Given the description of an element on the screen output the (x, y) to click on. 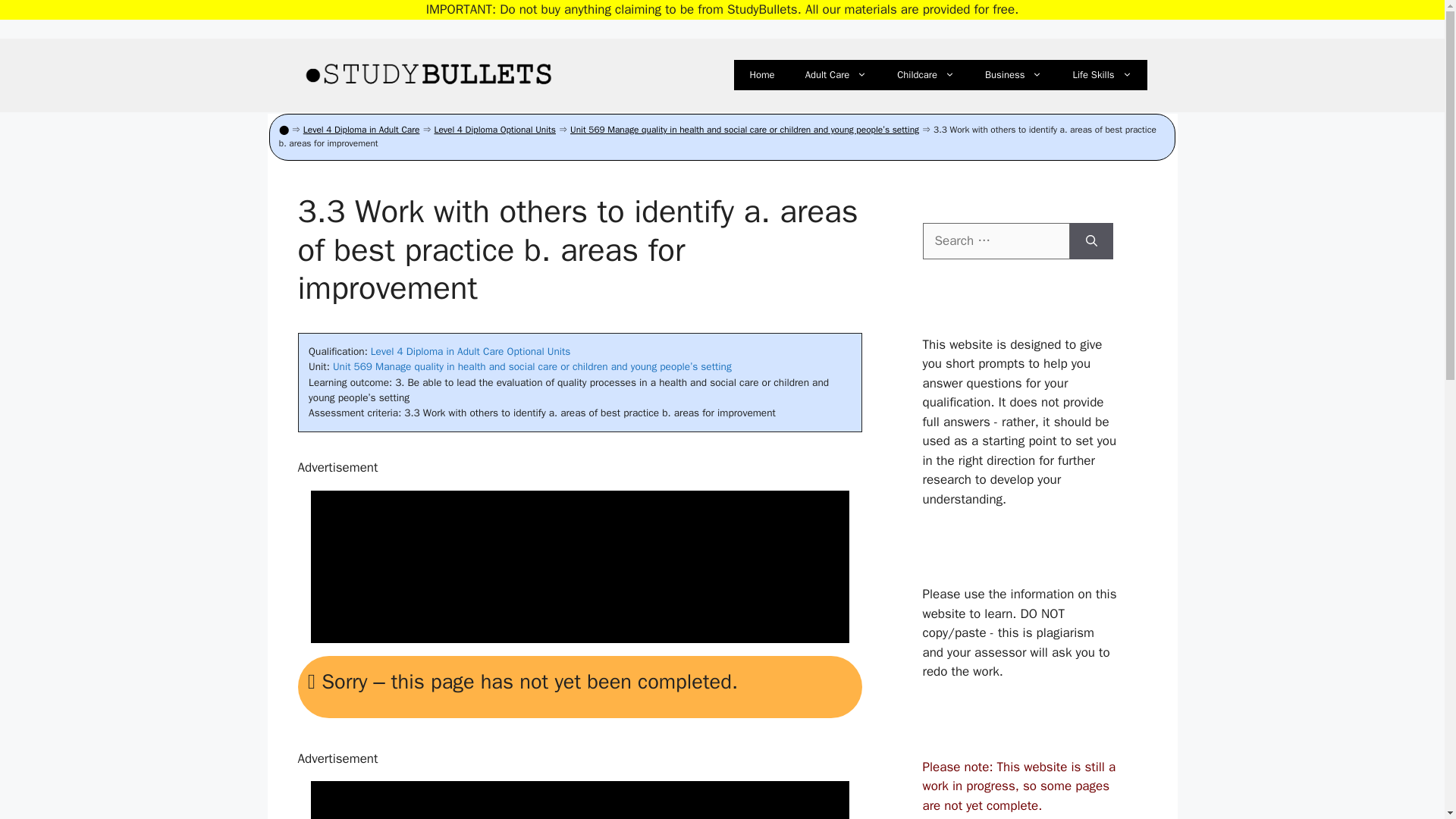
Search for: (994, 240)
Study Bullets (429, 75)
Study Bullets (429, 74)
Business (1013, 74)
Advertisement (580, 566)
Level 4 Diploma in Adult Care (361, 129)
Home (761, 74)
Childcare (925, 74)
Advertisement (580, 804)
Go to Level 4 Diploma in Adult Care. (361, 129)
Level 4 Diploma Optional Units (494, 129)
Go to Level 4 Diploma Optional Units. (494, 129)
Level 4 Diploma in Adult Care Optional Units (470, 350)
Life Skills (1102, 74)
Adult Care (836, 74)
